Given the description of an element on the screen output the (x, y) to click on. 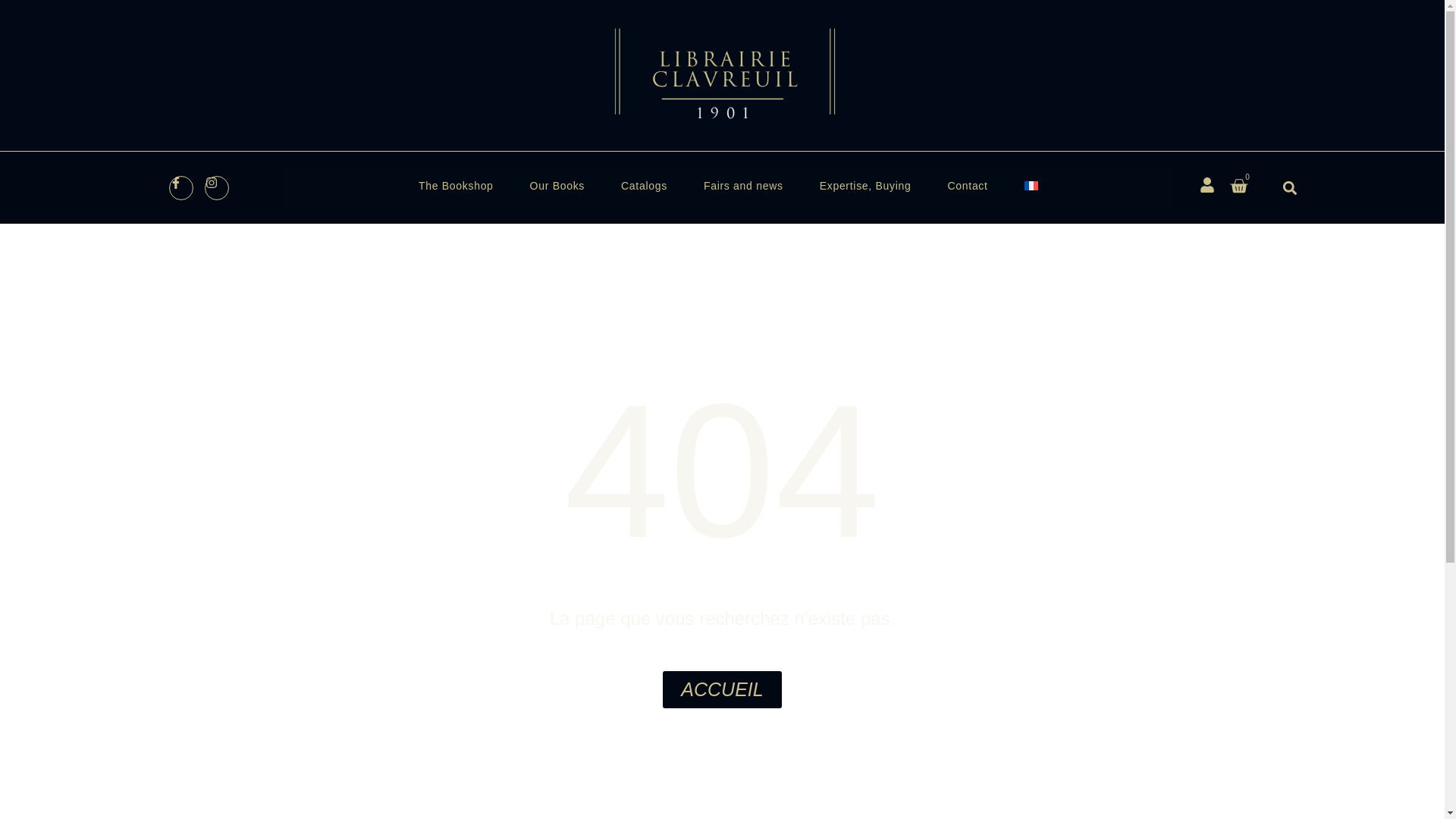
Our Books (557, 185)
Contact (968, 185)
Fairs and news (743, 185)
0 (1238, 187)
Catalogs (643, 185)
The Bookshop (456, 185)
ACCUEIL (721, 688)
Expertise, Buying (866, 185)
